Given the description of an element on the screen output the (x, y) to click on. 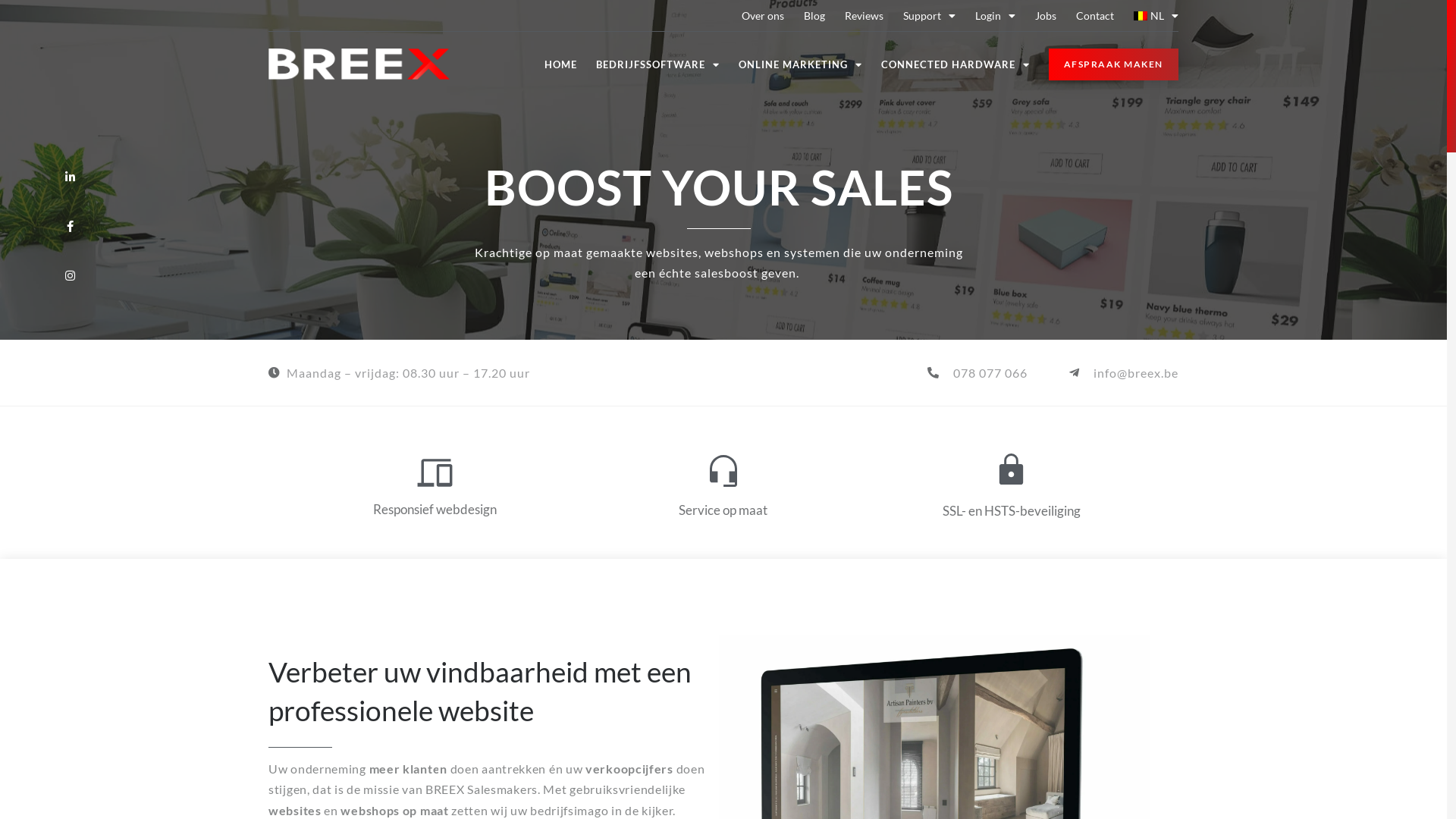
Reviews Element type: text (863, 15)
Blog Element type: text (814, 15)
Support Element type: text (929, 15)
078 077 066 Element type: text (976, 372)
Over ons Element type: text (762, 15)
CONNECTED HARDWARE Element type: text (955, 64)
NL Element type: text (1155, 15)
Contact Element type: text (1094, 15)
BEDRIJFSSOFTWARE Element type: text (657, 64)
Jobs Element type: text (1045, 15)
info@breex.be Element type: text (1121, 372)
ONLINE MARKETING Element type: text (800, 64)
HOME Element type: text (560, 64)
AFSPRAAK MAKEN Element type: text (1113, 64)
Login Element type: text (995, 15)
